Given the description of an element on the screen output the (x, y) to click on. 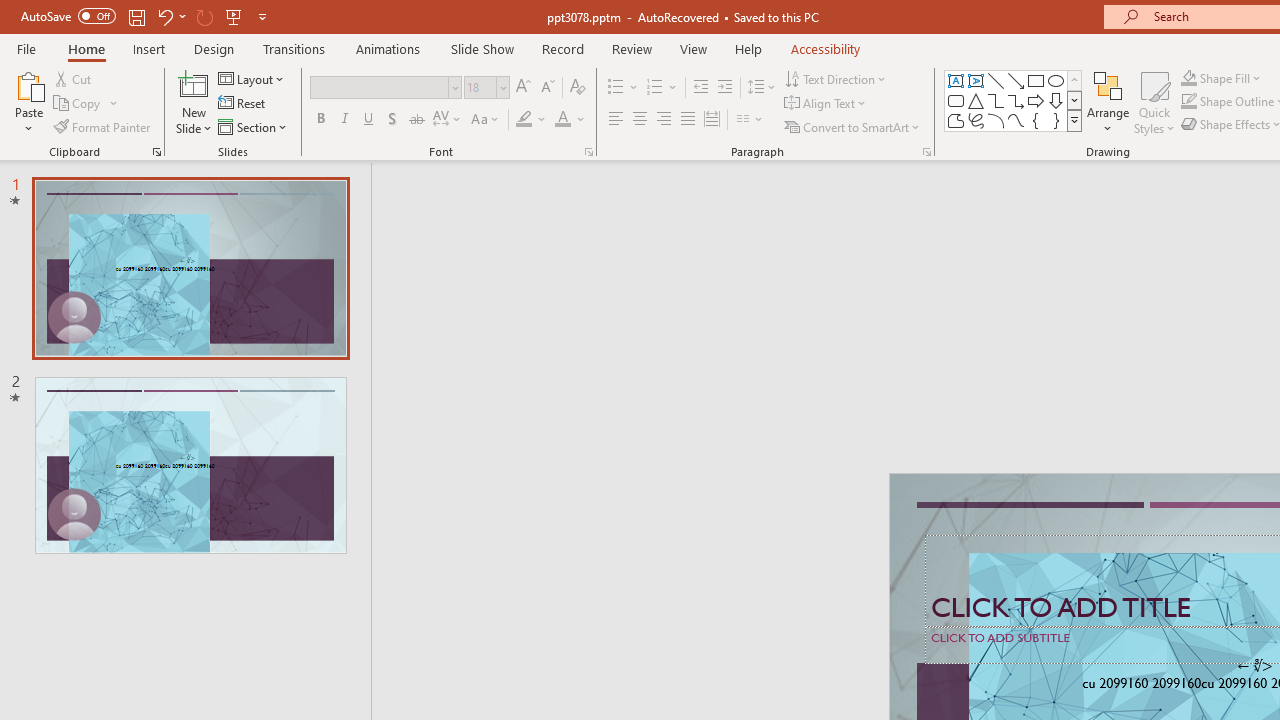
Bold (320, 119)
Arrange (1108, 102)
